Given the description of an element on the screen output the (x, y) to click on. 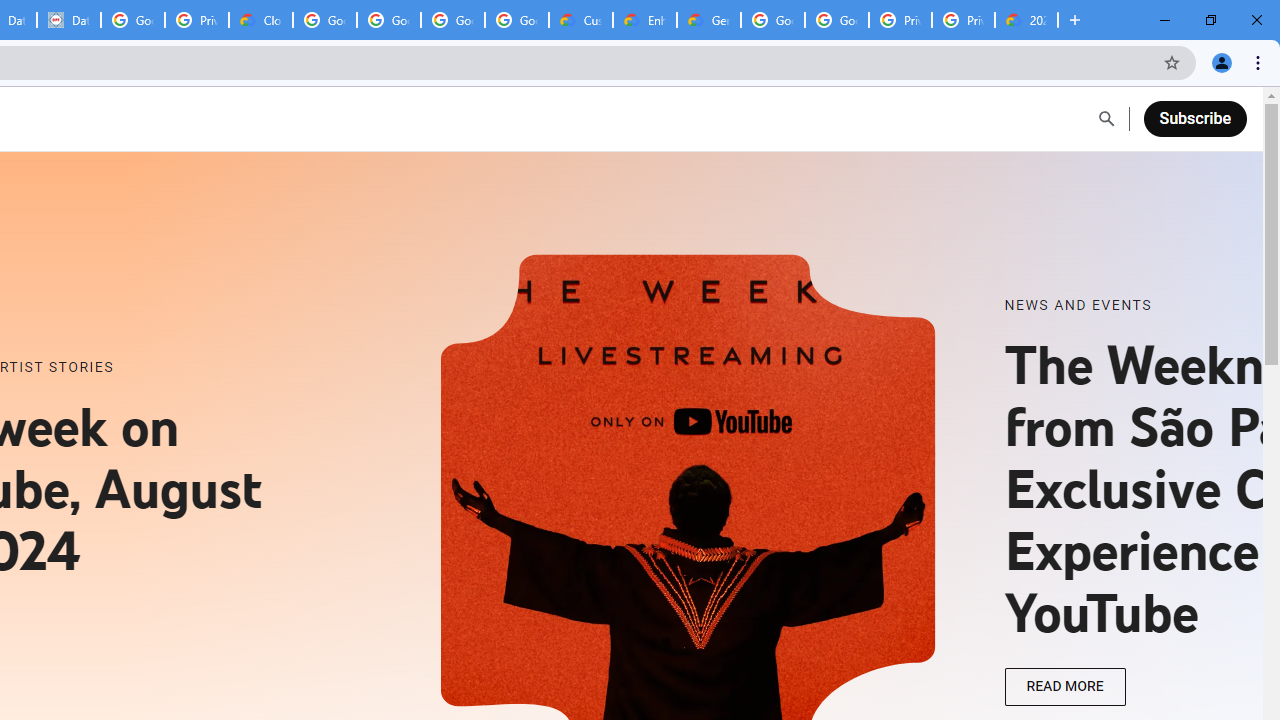
Gemini for Business and Developers | Google Cloud (709, 20)
Google Cloud Platform (837, 20)
Cloud Data Processing Addendum | Google Cloud (261, 20)
Customer Care | Google Cloud (581, 20)
Google Workspace - Specific Terms (453, 20)
Subscribe (1194, 118)
Enhanced Support | Google Cloud (645, 20)
